Given the description of an element on the screen output the (x, y) to click on. 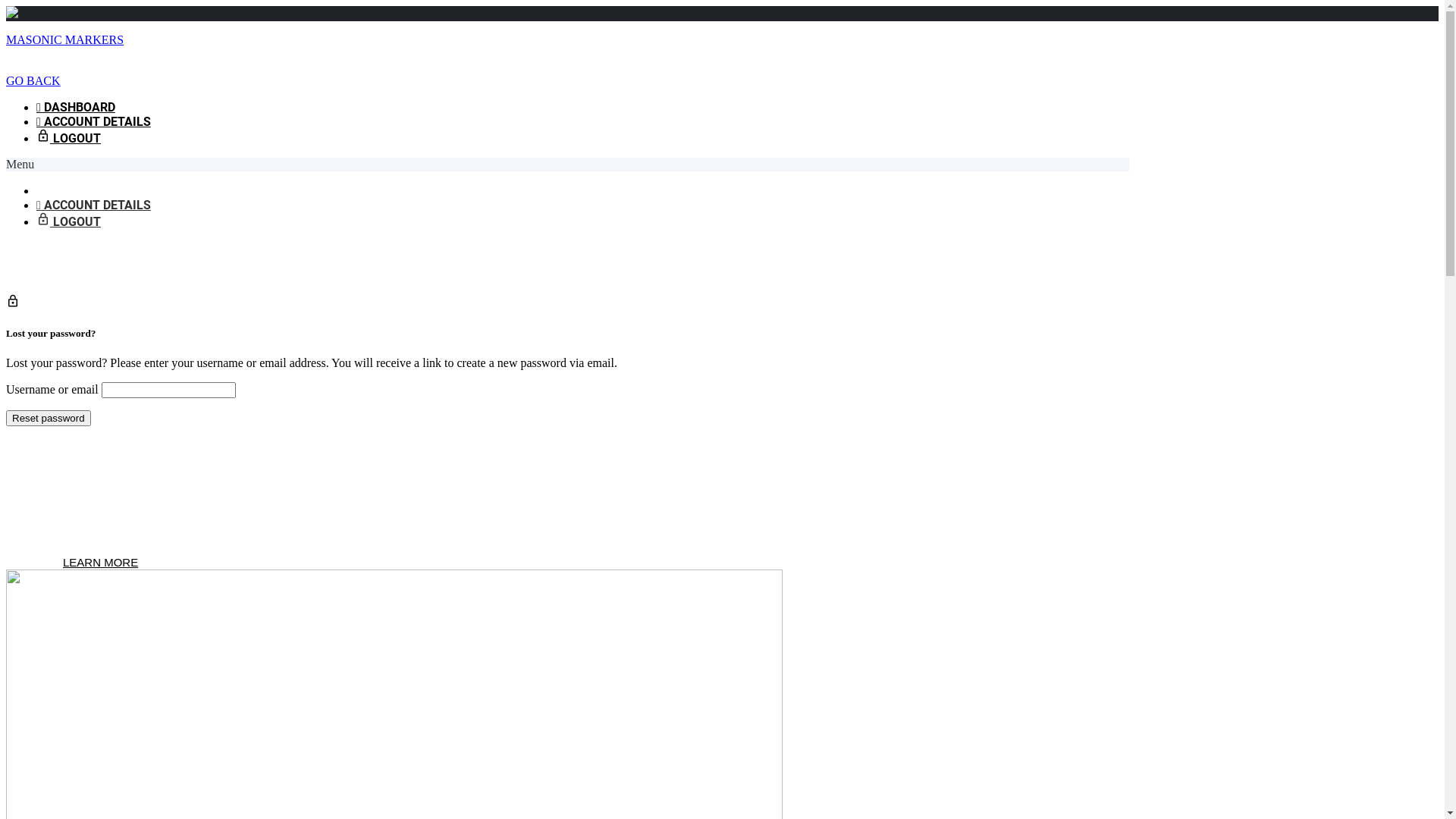
DASHBOARD Element type: text (75, 107)
DASHBOARD Element type: text (75, 190)
Reset password Element type: text (48, 418)
MASONIC MARKERS Element type: text (64, 39)
ACCOUNT DETAILS Element type: text (93, 121)
ACCOUNT DETAILS Element type: text (93, 204)
LOGOUT Element type: text (68, 221)
LOGOUT Element type: text (68, 138)
GO BACK Element type: text (33, 80)
LEARN MORE Element type: text (100, 562)
